Given the description of an element on the screen output the (x, y) to click on. 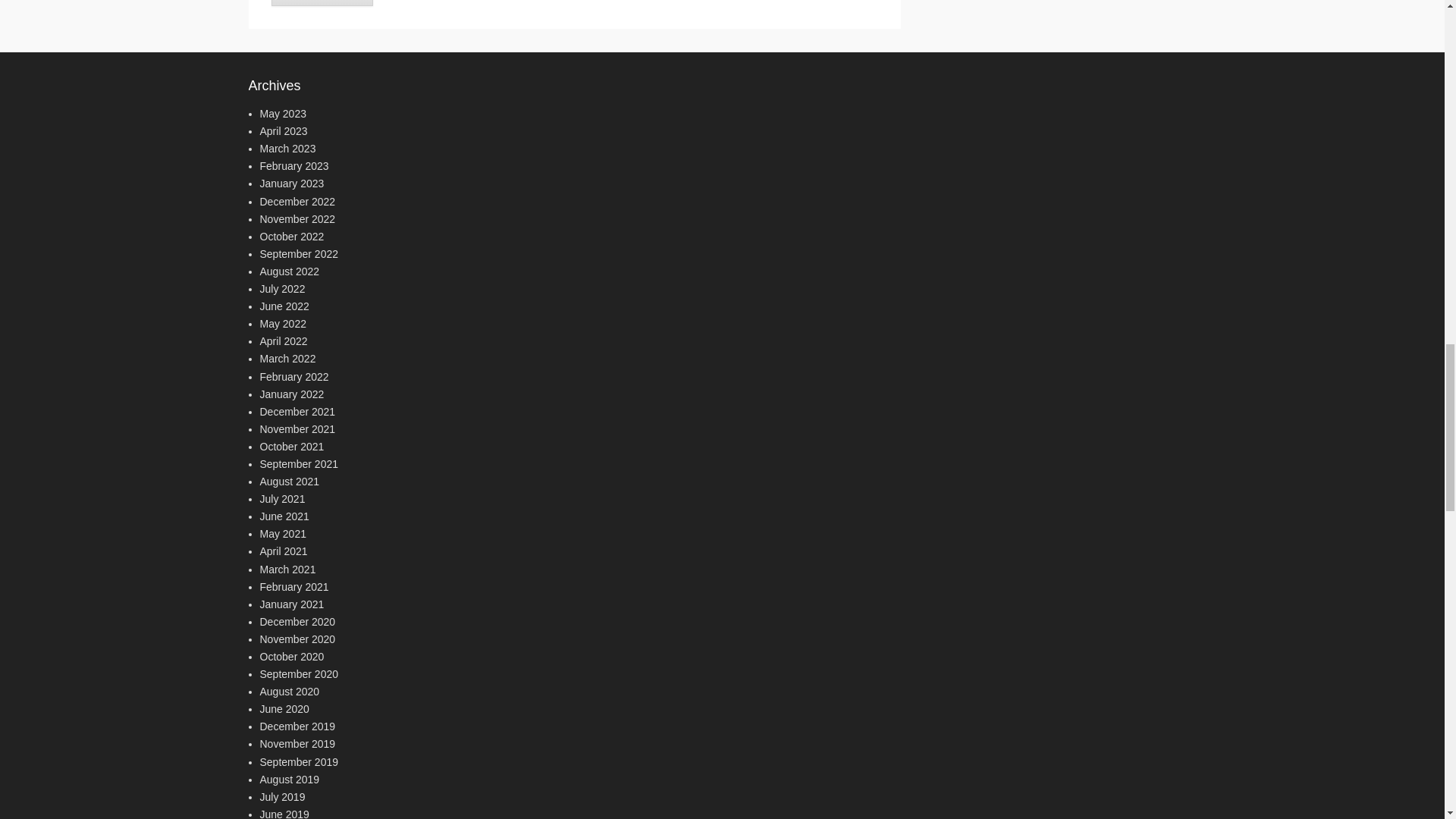
November 2022 (296, 218)
May 2023 (282, 113)
January 2023 (291, 183)
March 2023 (287, 148)
February 2023 (294, 165)
Post Comment (322, 2)
September 2022 (298, 254)
December 2022 (296, 201)
October 2022 (291, 236)
April 2023 (283, 131)
Post Comment (322, 2)
August 2022 (288, 271)
